Given the description of an element on the screen output the (x, y) to click on. 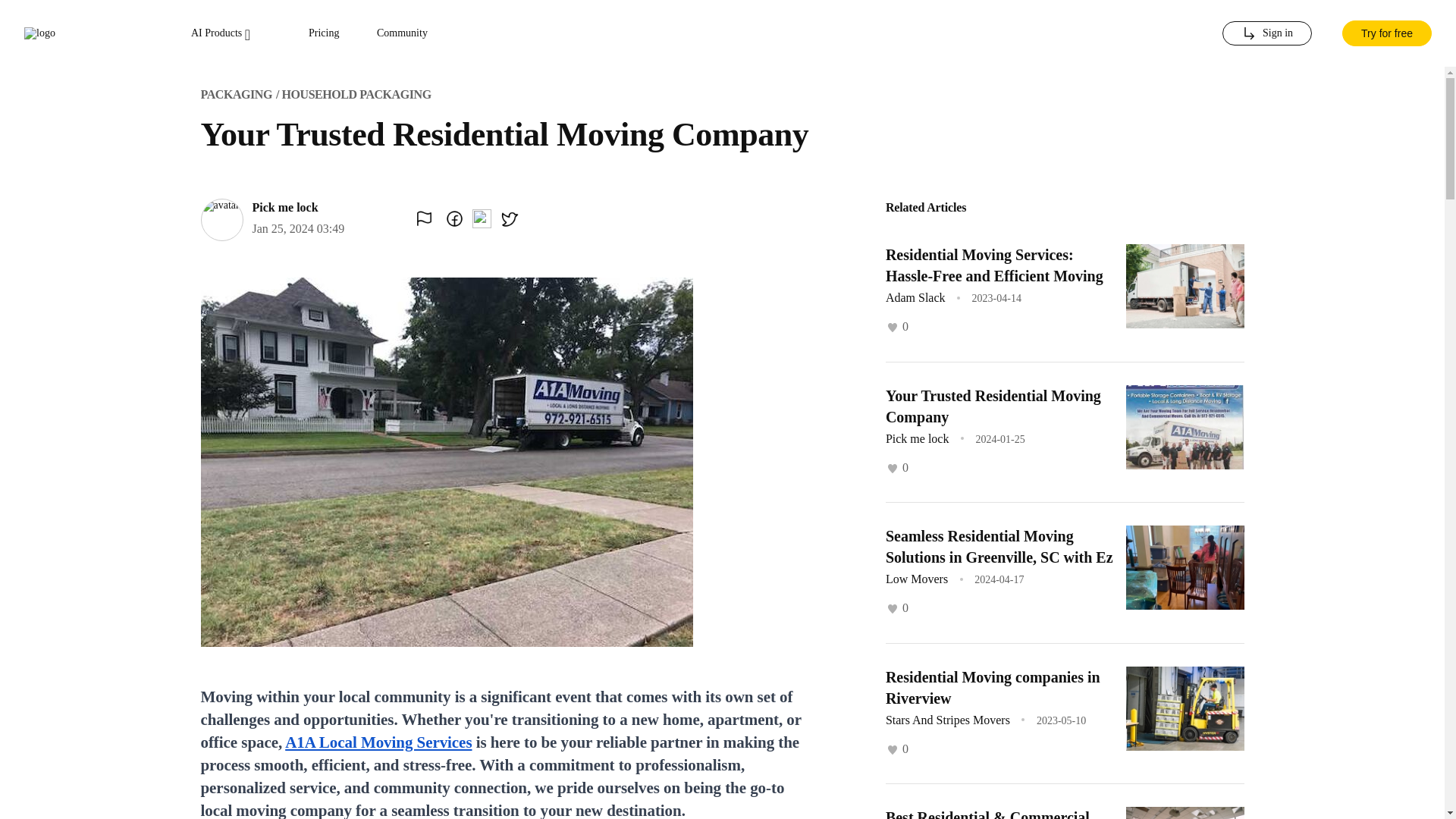
Try for free (1386, 32)
PACKAGING (235, 93)
A1A Local Moving Services (378, 742)
Pricing (323, 33)
Community (402, 33)
Your Trusted Residential Moving Company (992, 405)
Residential Moving companies in Riverview (992, 687)
 Sign in (1267, 33)
